Given the description of an element on the screen output the (x, y) to click on. 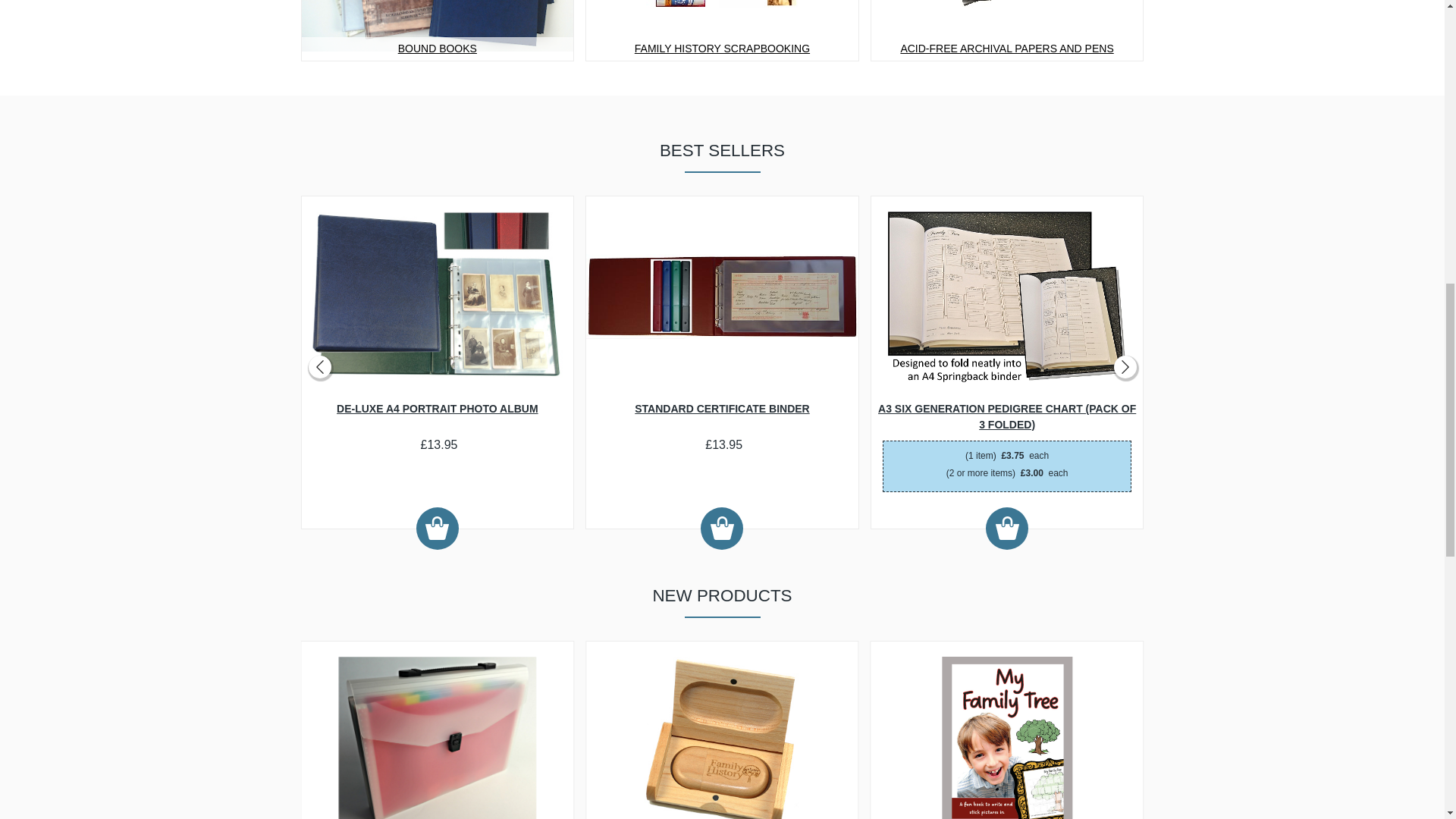
De-luxe A4 Portrait Photo Album  (436, 296)
Standard Certificate Binder  (722, 296)
